Given the description of an element on the screen output the (x, y) to click on. 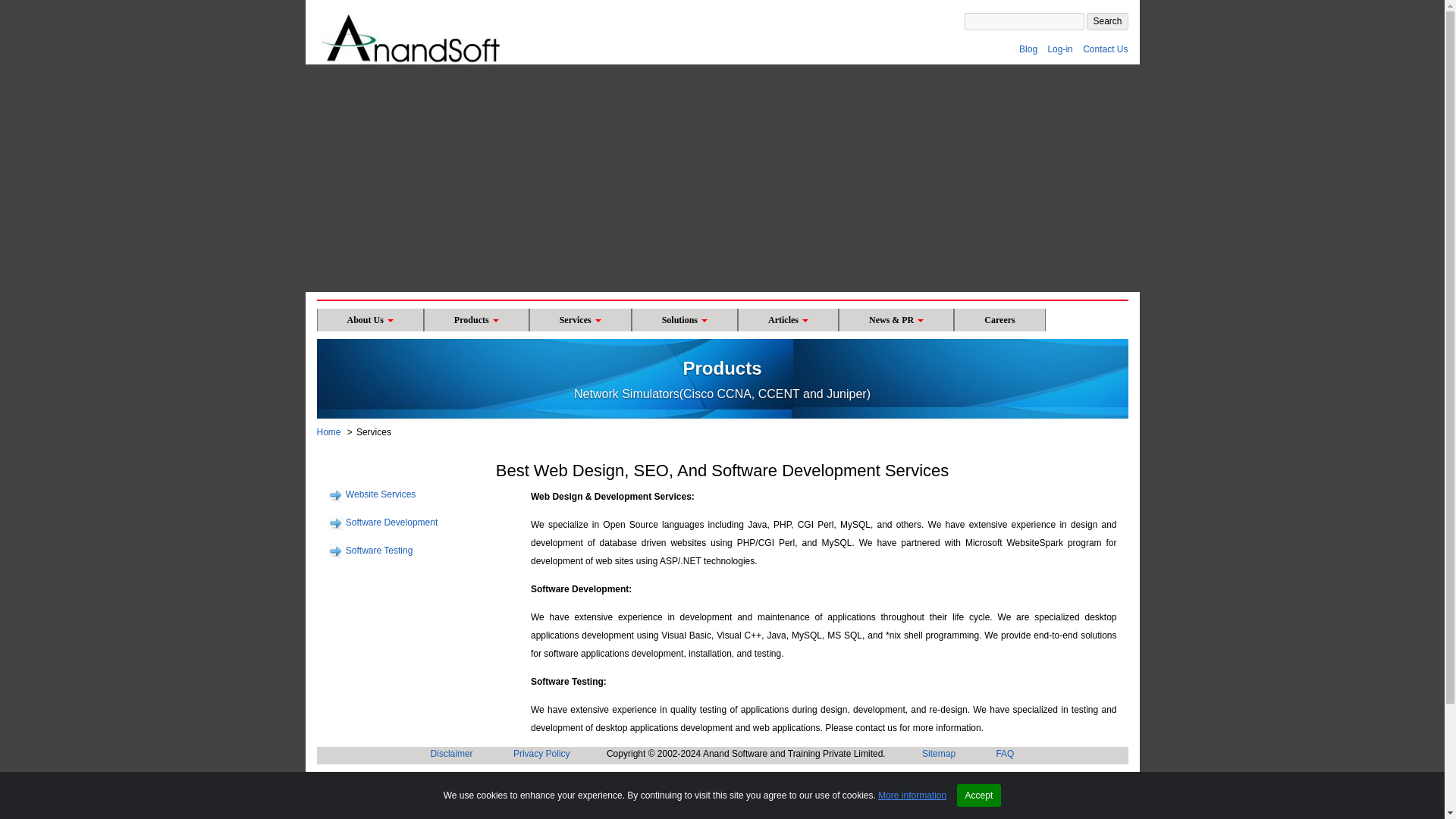
Blog (1027, 49)
Search (1106, 21)
Contact Us (1104, 49)
Products (476, 319)
Log-in (1058, 49)
Services (580, 319)
Search (1106, 21)
Solutions (684, 319)
About Us (370, 319)
